Given the description of an element on the screen output the (x, y) to click on. 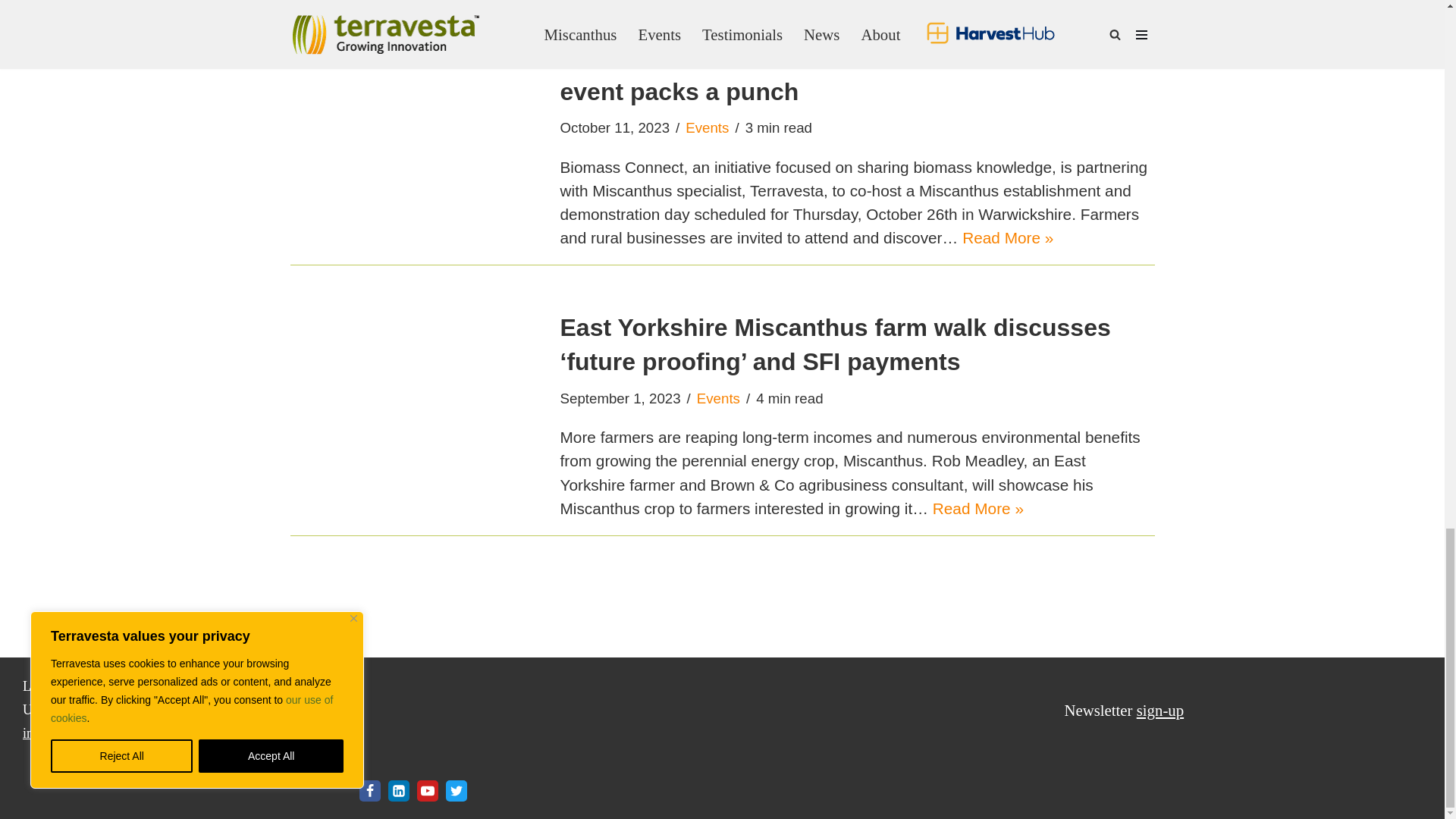
Youtube (427, 790)
LinkedIn (398, 790)
Facebook (369, 790)
